Given the description of an element on the screen output the (x, y) to click on. 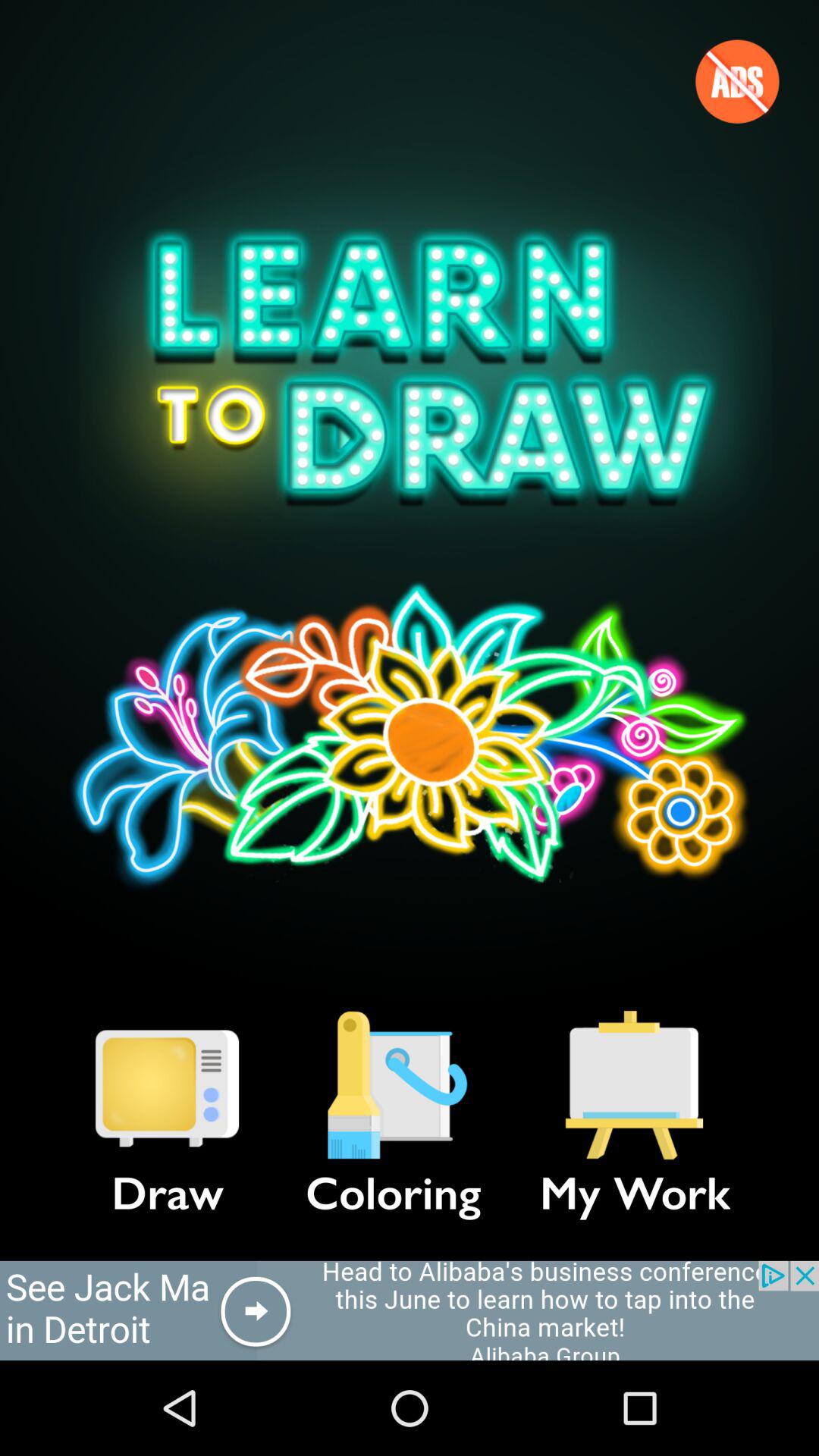
choose item next to the coloring item (166, 1085)
